Given the description of an element on the screen output the (x, y) to click on. 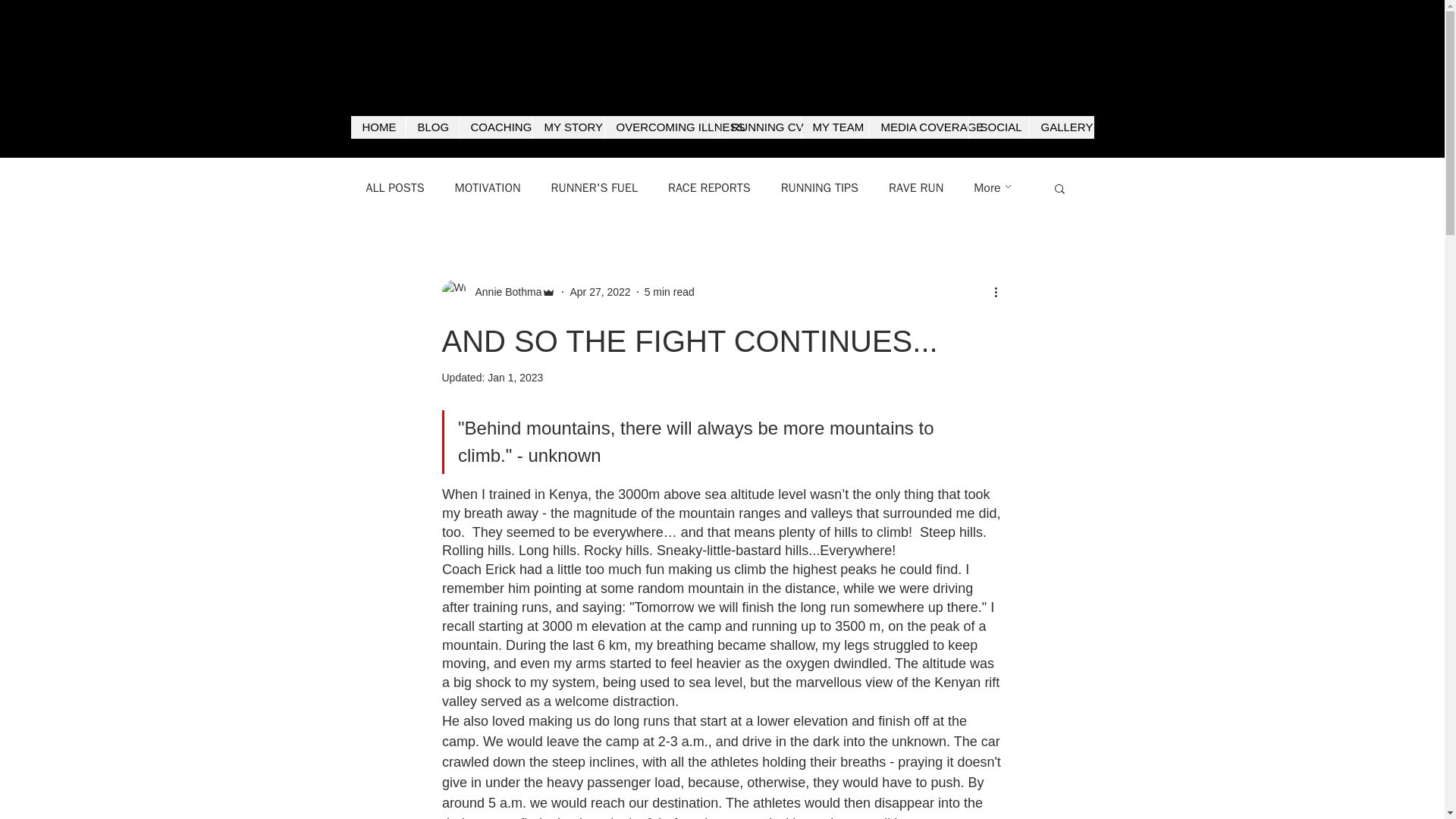
GALLERY (1060, 127)
HOME (377, 127)
MY TEAM (834, 127)
MOTIVATION (487, 188)
BLOG (431, 127)
RUNNING TIPS (819, 188)
Annie Bothma (503, 291)
Jan 1, 2023 (515, 377)
RACE REPORTS (709, 188)
RAVE RUN (915, 188)
